Given the description of an element on the screen output the (x, y) to click on. 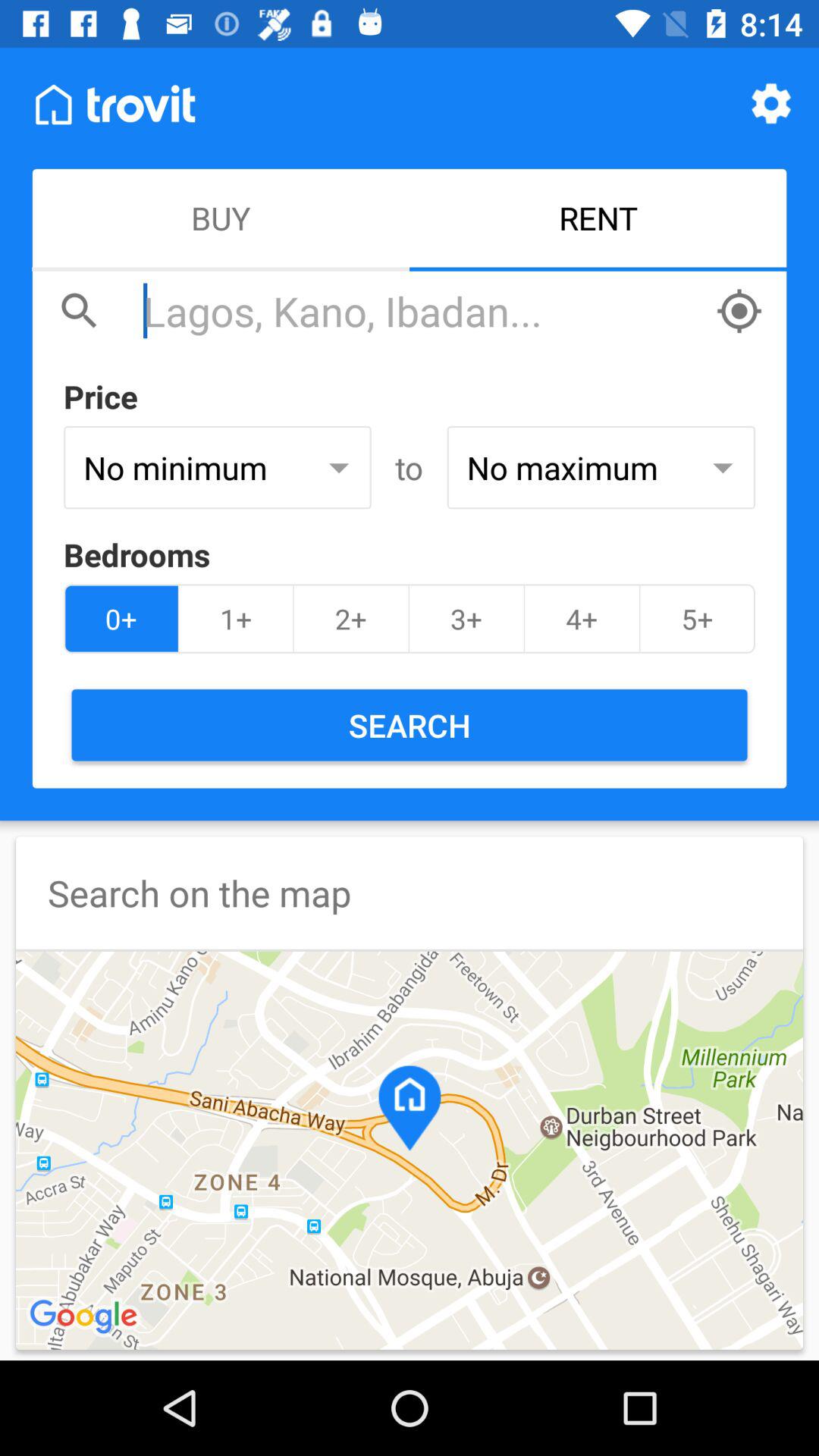
search field (421, 310)
